Given the description of an element on the screen output the (x, y) to click on. 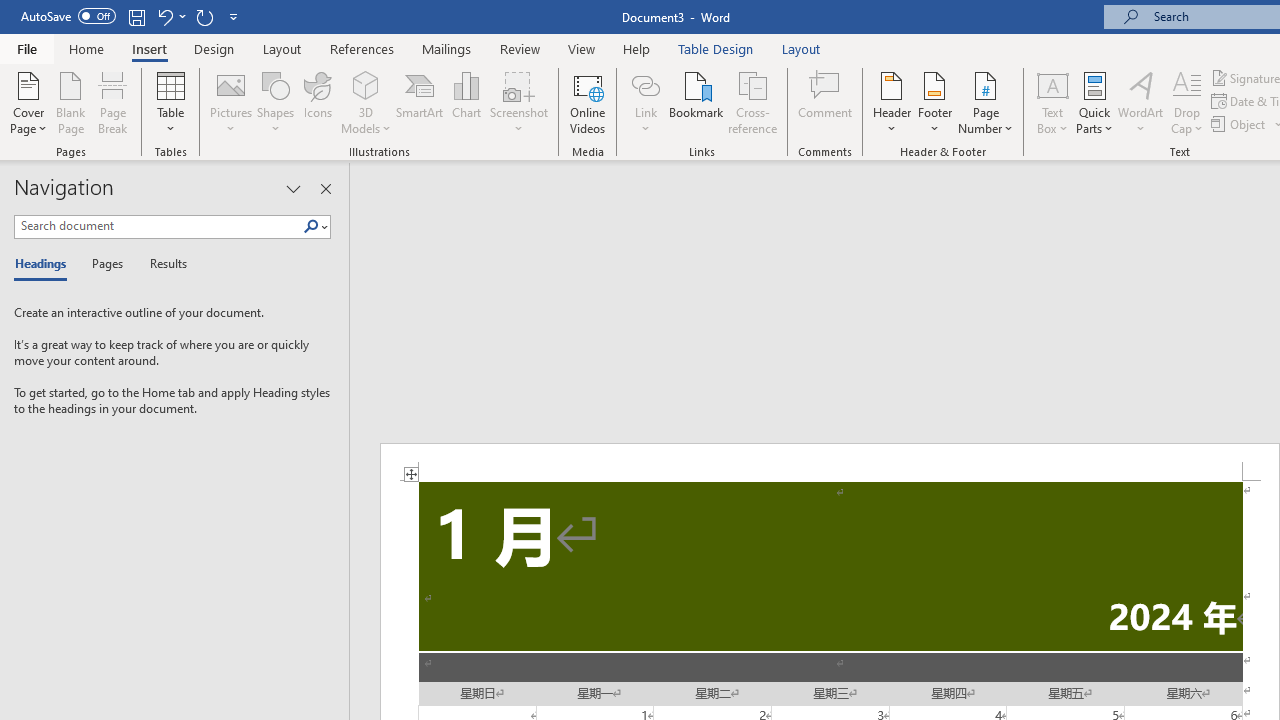
3D Models (366, 84)
Blank Page (70, 102)
Page Break (113, 102)
Link (645, 84)
Link (645, 102)
Object... (1240, 124)
3D Models (366, 102)
Bookmark... (695, 102)
SmartArt... (419, 102)
